Given the description of an element on the screen output the (x, y) to click on. 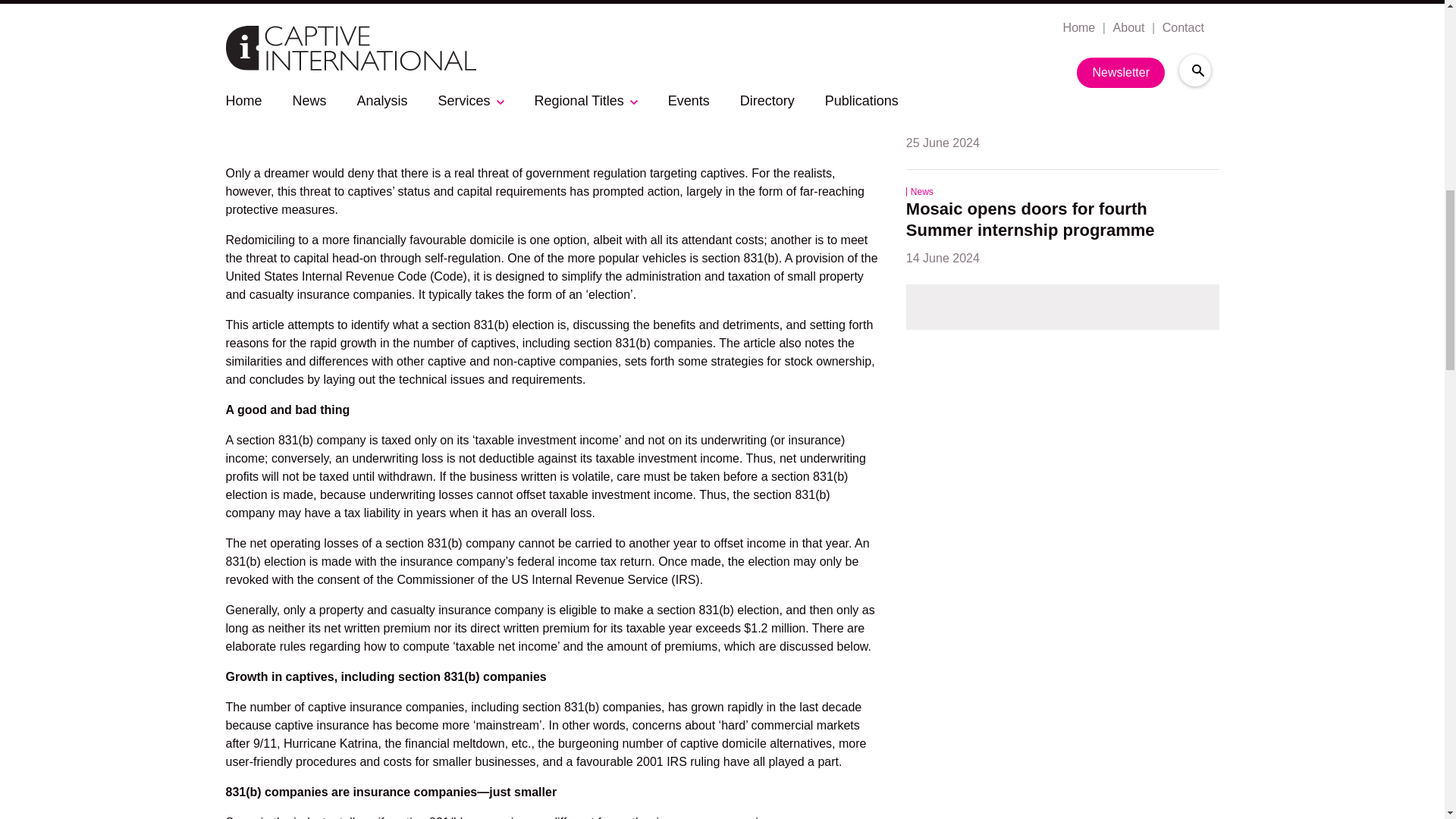
Guy Carpenter: global headwinds impact risk appetites (1040, 5)
Mosaic opens doors for fourth Summer internship programme (1029, 220)
